Given the description of an element on the screen output the (x, y) to click on. 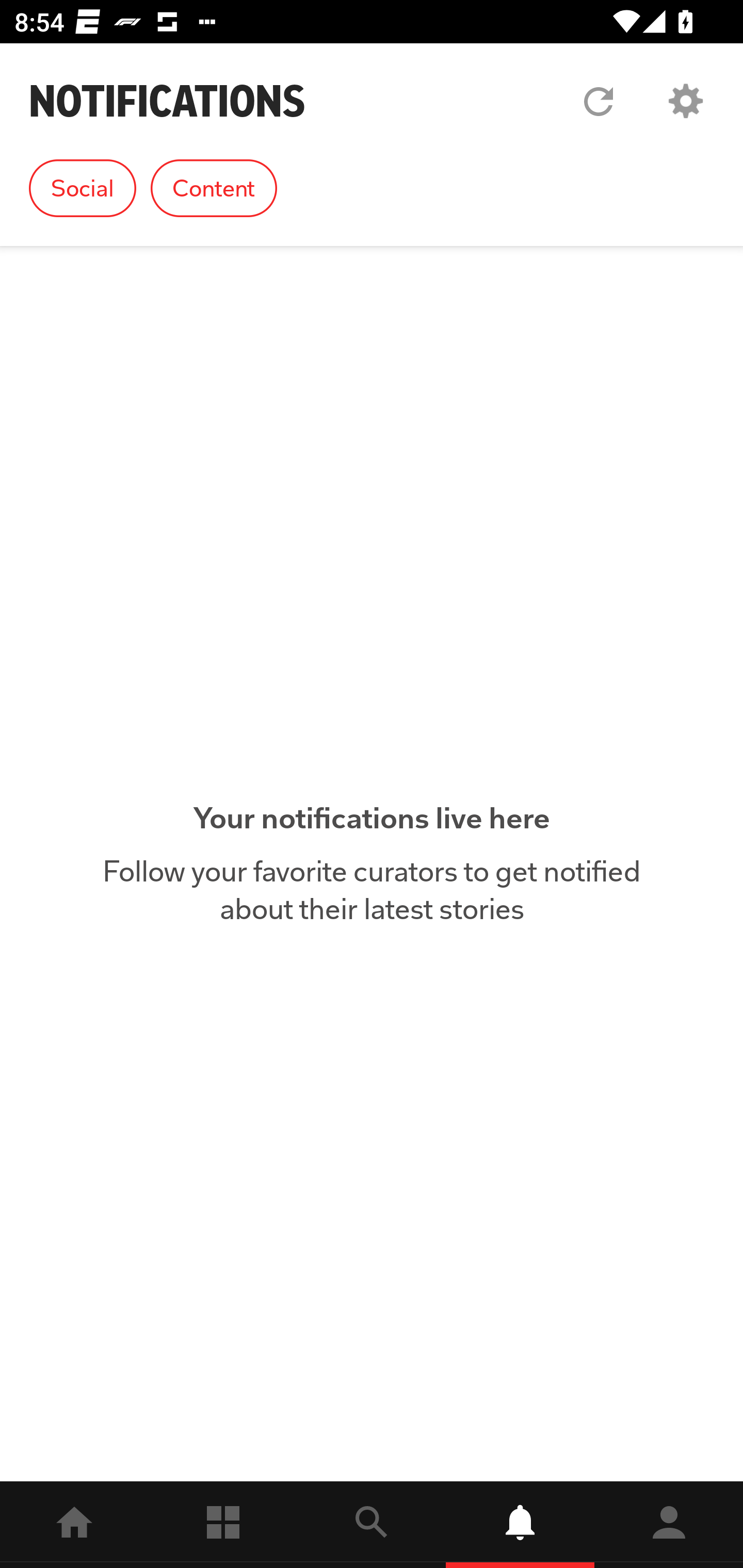
Settings (684, 101)
Social (81, 188)
Content (213, 188)
home (74, 1524)
Following (222, 1524)
explore (371, 1524)
Notifications (519, 1524)
Profile (668, 1524)
